Given the description of an element on the screen output the (x, y) to click on. 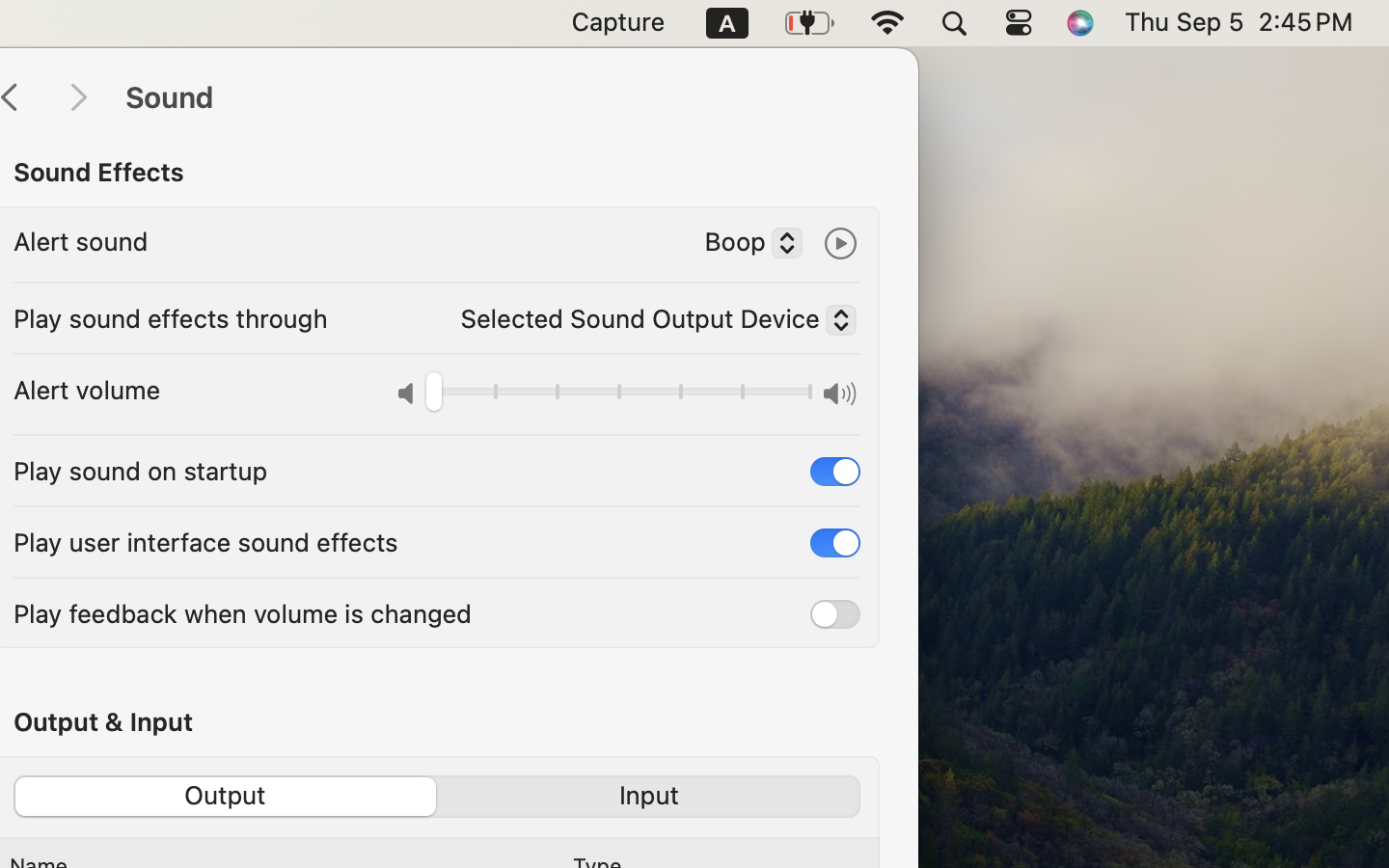
Play sound on startup Element type: AXStaticText (140, 470)
Selected Sound Output Device Element type: AXPopUpButton (650, 322)
Alert volume Element type: AXStaticText (86, 389)
Boop Element type: AXPopUpButton (745, 245)
